Given the description of an element on the screen output the (x, y) to click on. 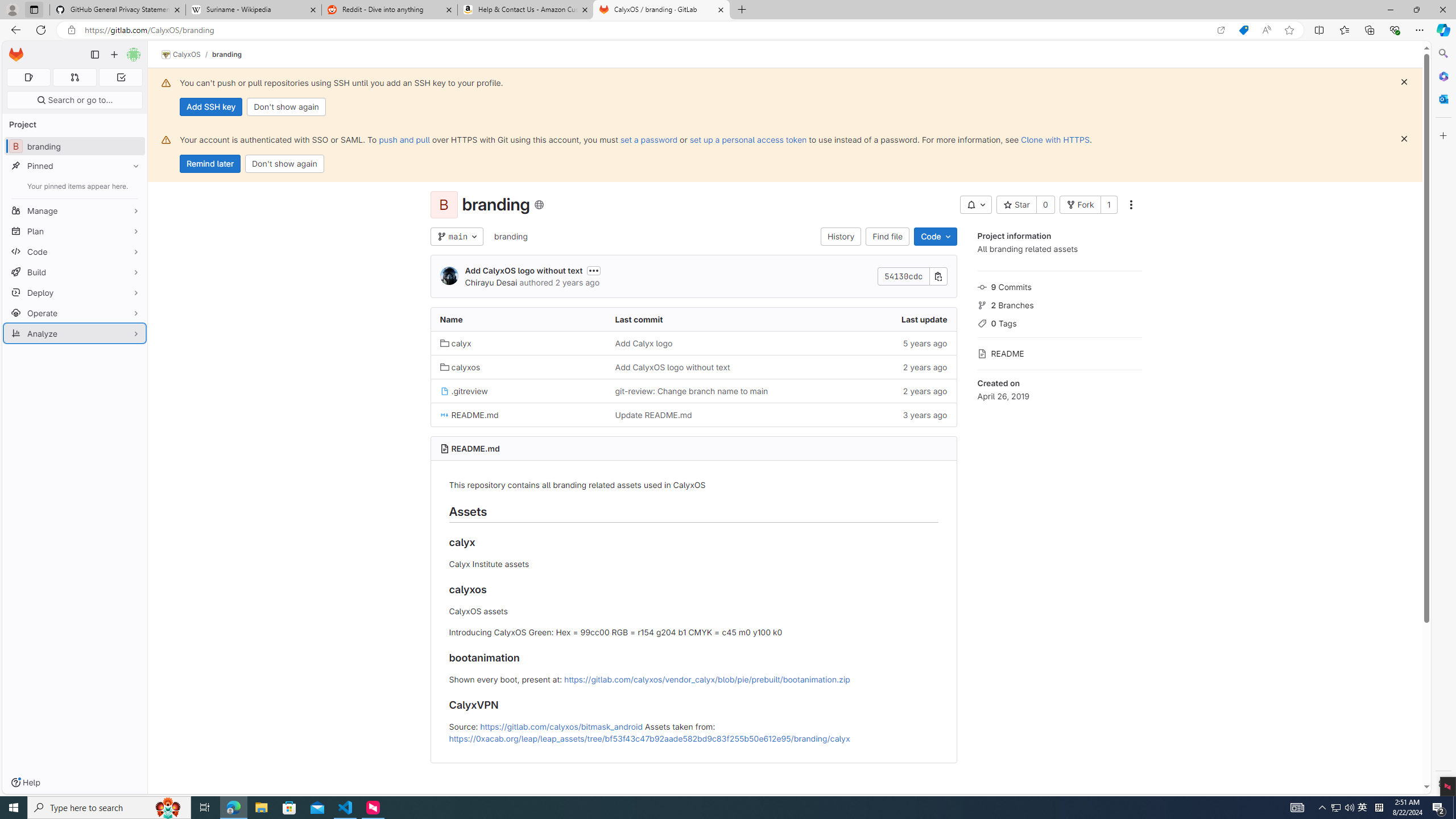
Analyze (74, 333)
branding (510, 235)
Primary navigation sidebar (94, 54)
Manage (74, 210)
calyxos (459, 367)
calyx (517, 342)
Clone with HTTPS (1054, 139)
Class: s16 icon gl-mr-3 gl-text-gray-500 (981, 353)
main (456, 236)
set a password (649, 139)
AutomationID: __BVID__301__BV_toggle_ (975, 204)
Pinned (74, 165)
